Given the description of an element on the screen output the (x, y) to click on. 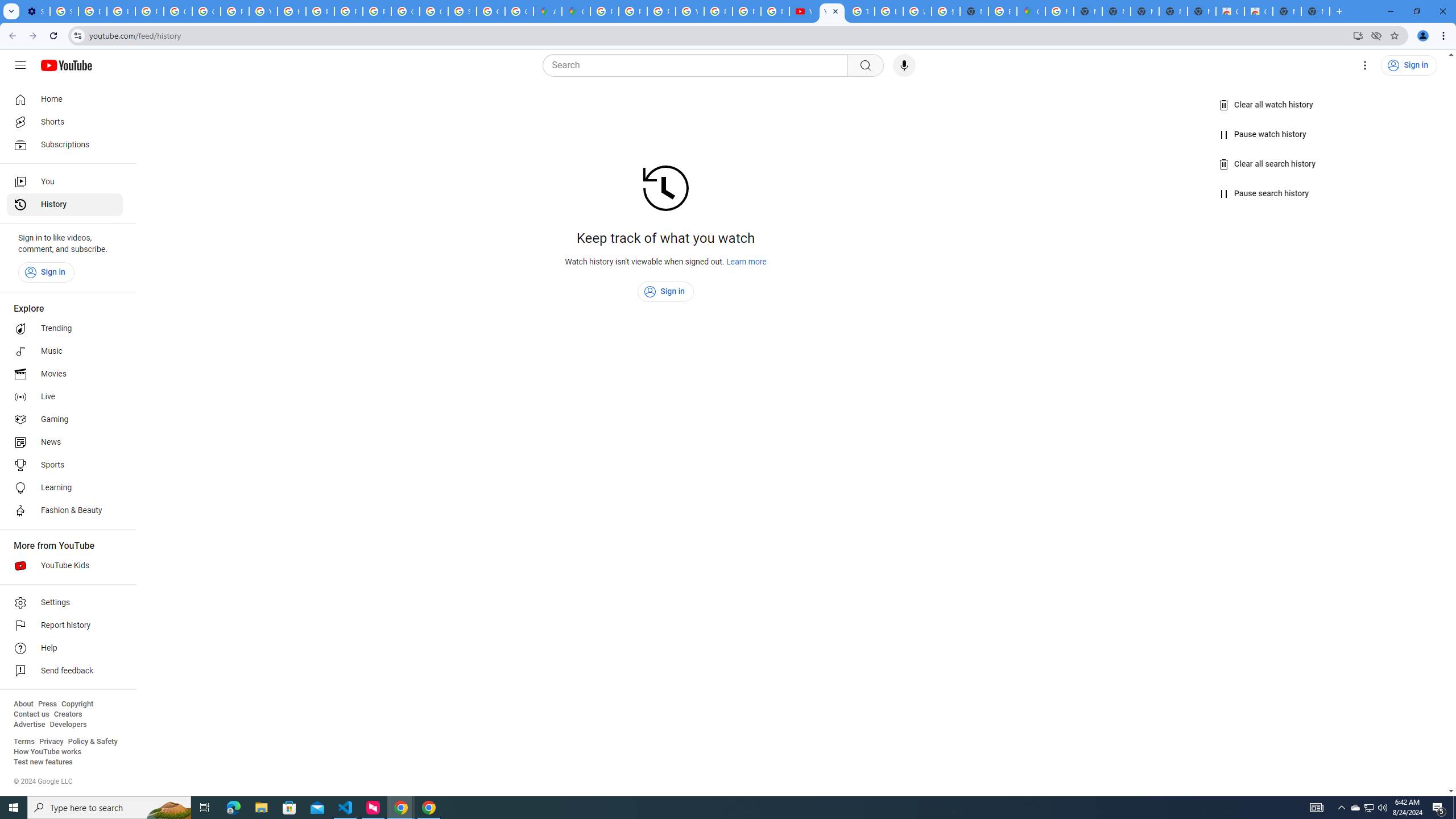
Developers (68, 724)
How YouTube works (47, 751)
Music (64, 350)
YouTube (690, 11)
Google Maps (575, 11)
Report history (64, 625)
